Given the description of an element on the screen output the (x, y) to click on. 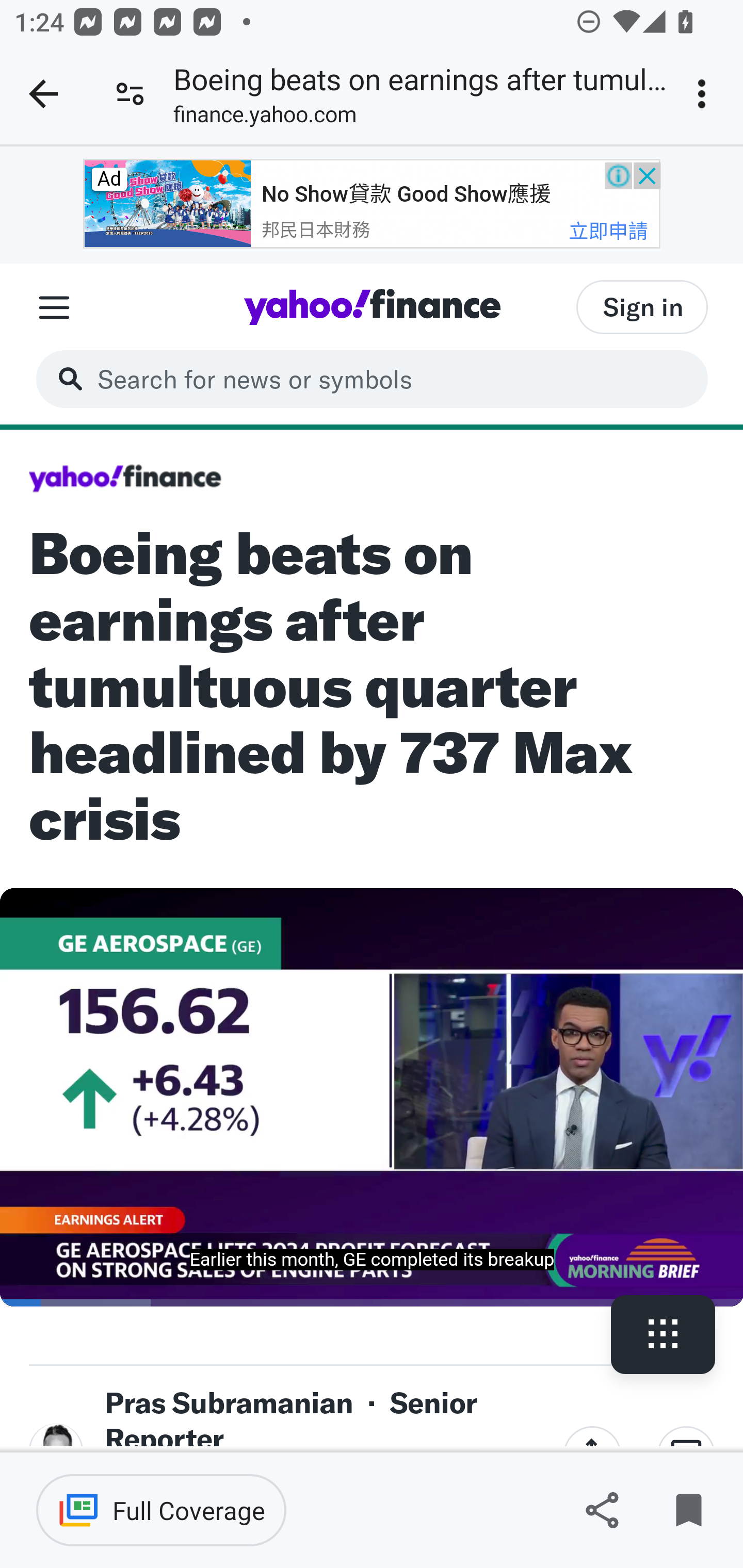
Close tab (43, 93)
Customize and control Google Chrome (705, 93)
Connection is secure (129, 93)
finance.yahoo.com (264, 117)
No Show貸款 Good Show應援 (406, 193)
邦民日本財務 (316, 229)
立即申請 (606, 230)
Yahoo Finance (372, 306)
Sign in (641, 306)
Y! Sites (54, 307)
Yahoo Finance (125, 478)
Pras Subramanian (228, 1401)
Full Coverage (161, 1509)
Share (601, 1510)
Remove from saved stories (688, 1510)
